Given the description of an element on the screen output the (x, y) to click on. 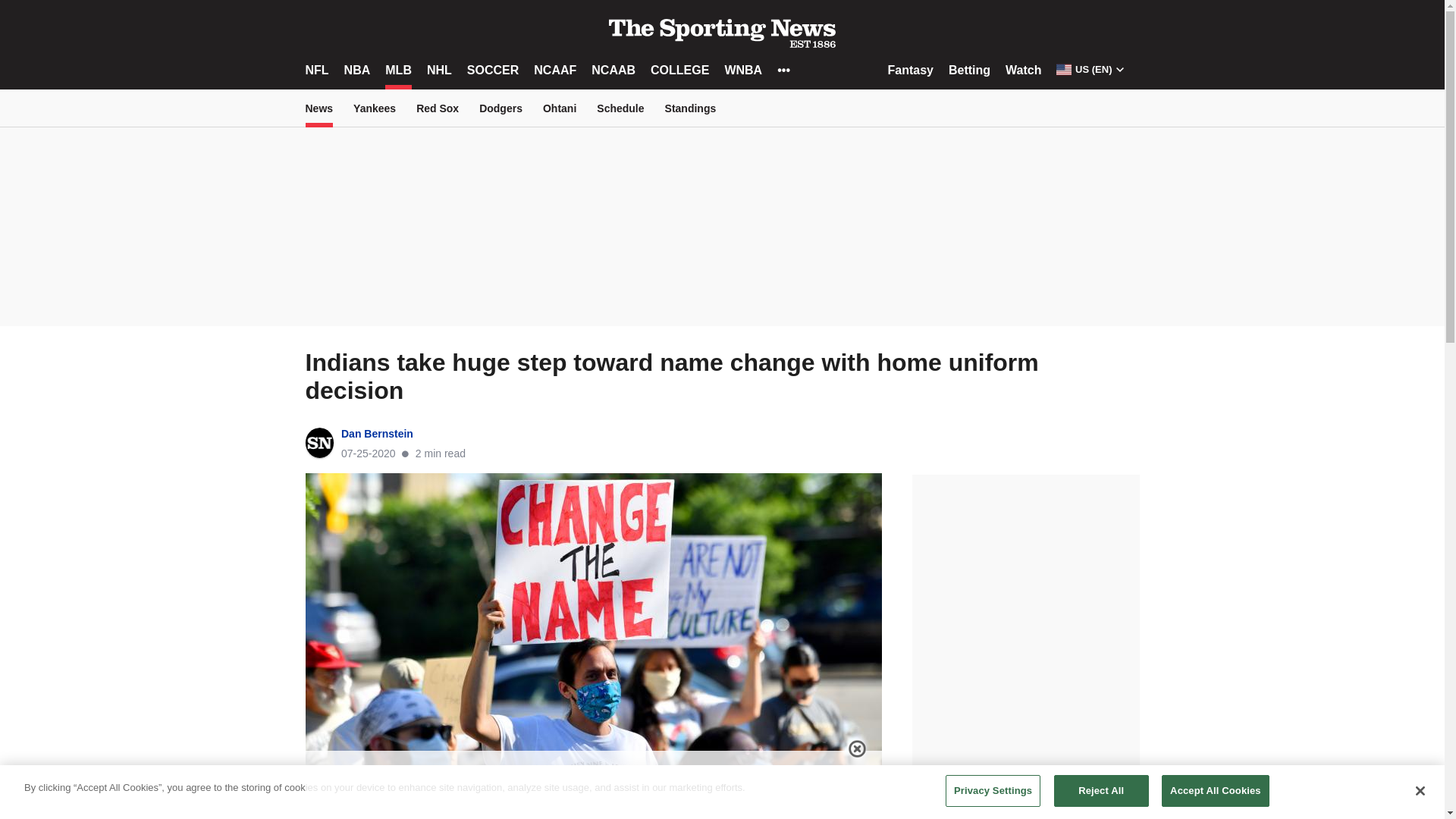
NCAAB (612, 70)
3rd party ad content (593, 785)
3rd party ad content (721, 231)
SOCCER (492, 70)
COLLEGE (679, 70)
NCAAF (555, 70)
WNBA (742, 70)
3rd party ad content (1024, 569)
